Given the description of an element on the screen output the (x, y) to click on. 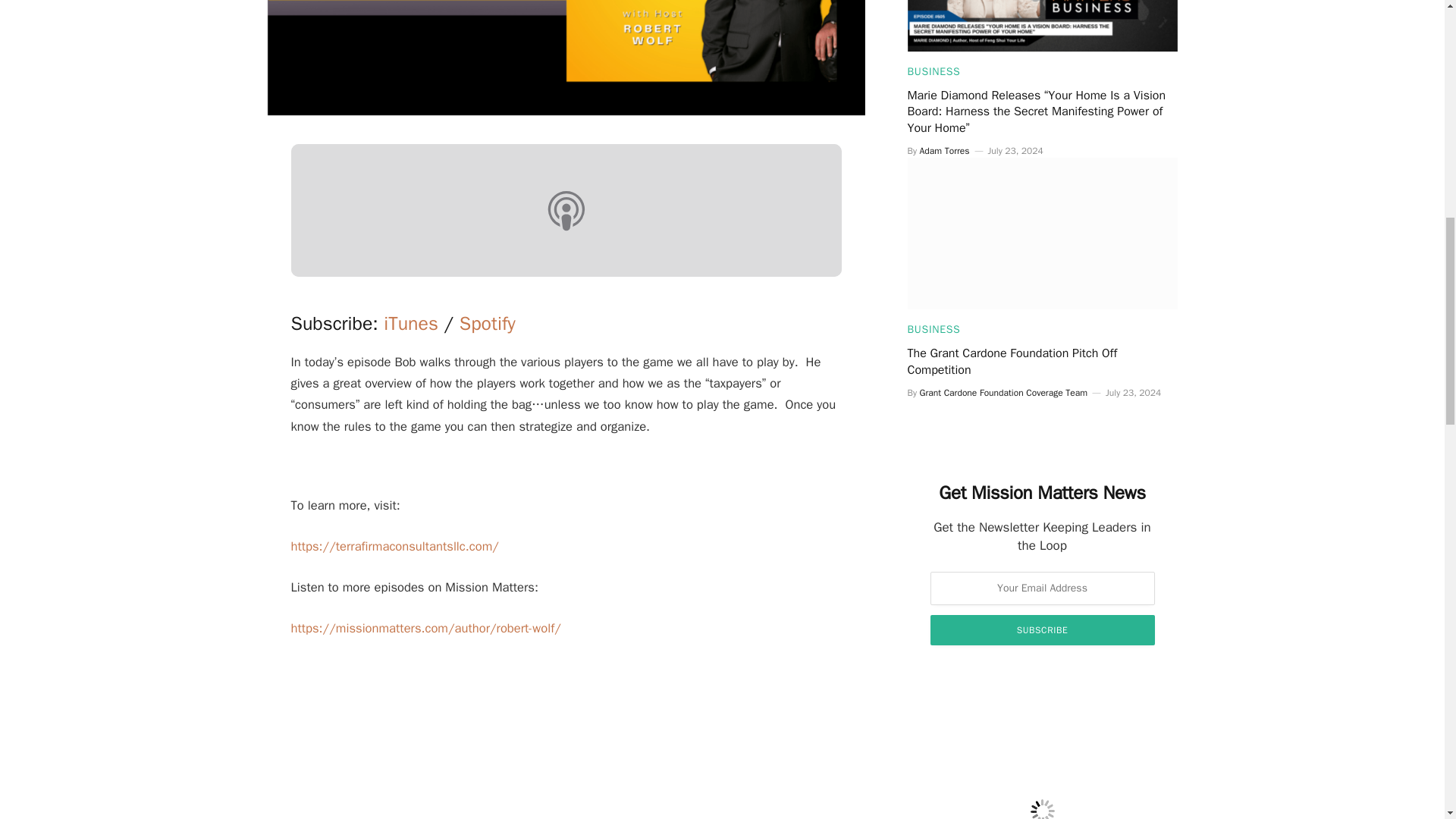
Subscribe (1042, 630)
